Given the description of an element on the screen output the (x, y) to click on. 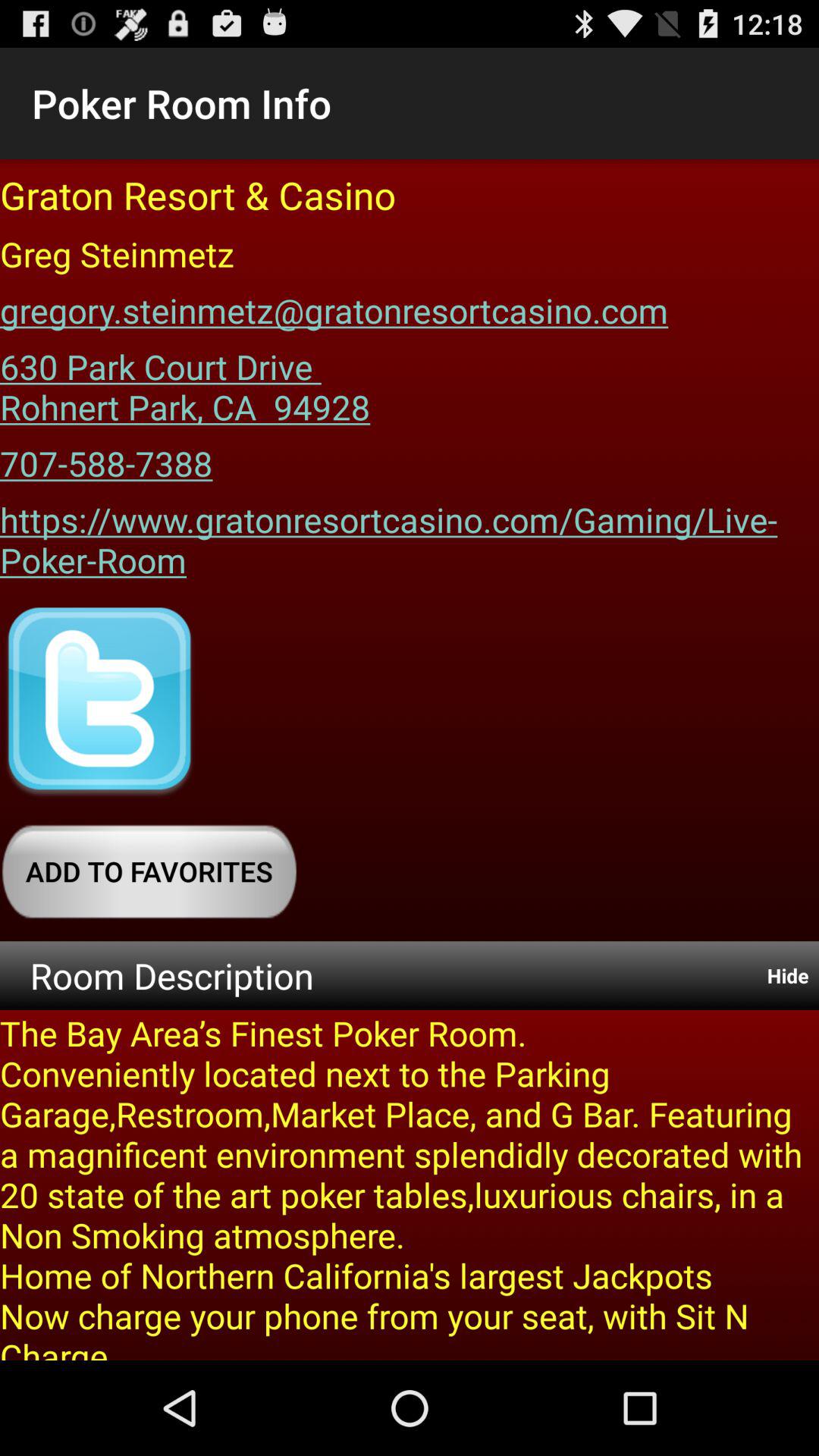
turn off the item above add to favorites icon (99, 701)
